Given the description of an element on the screen output the (x, y) to click on. 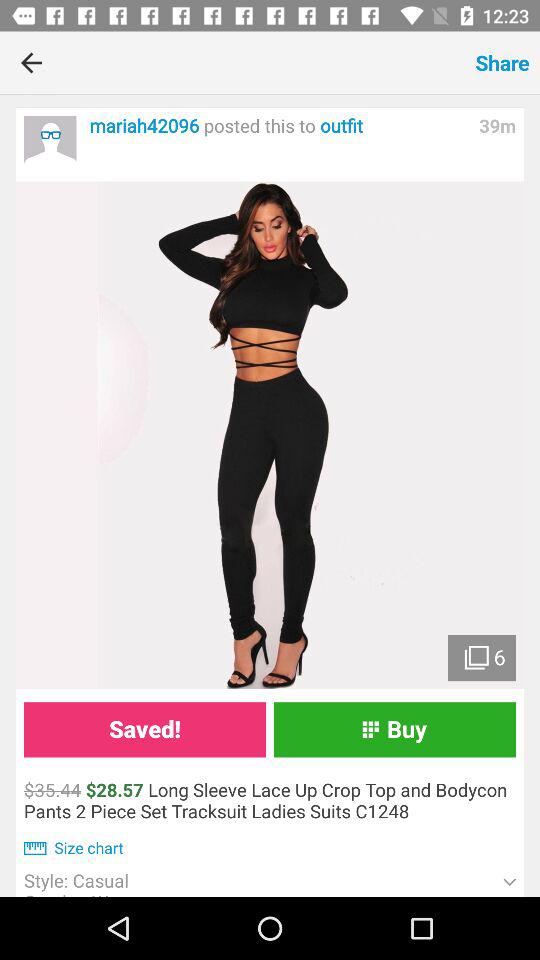
flip until saved! (144, 729)
